Given the description of an element on the screen output the (x, y) to click on. 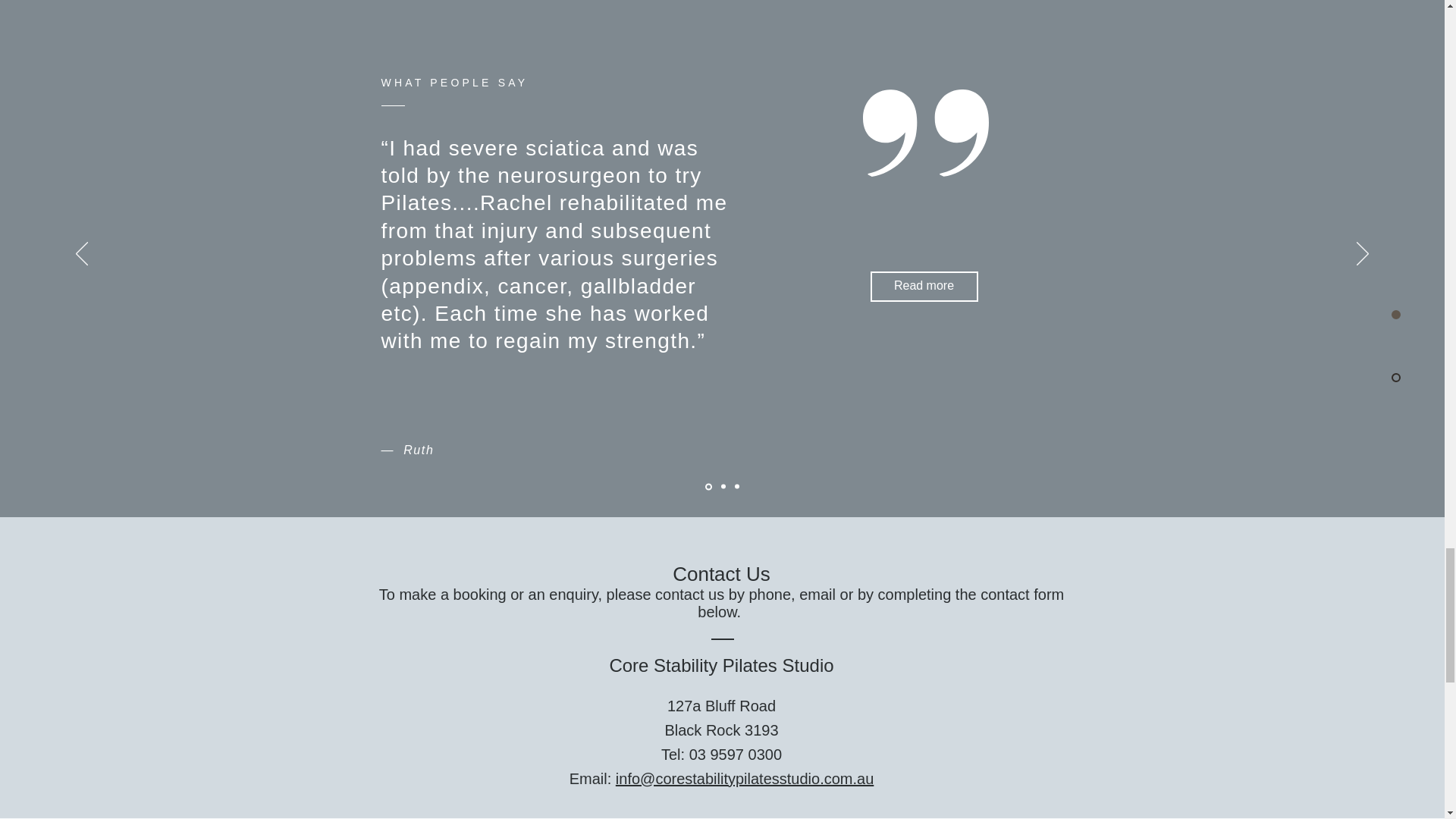
Read more (924, 286)
